Given the description of an element on the screen output the (x, y) to click on. 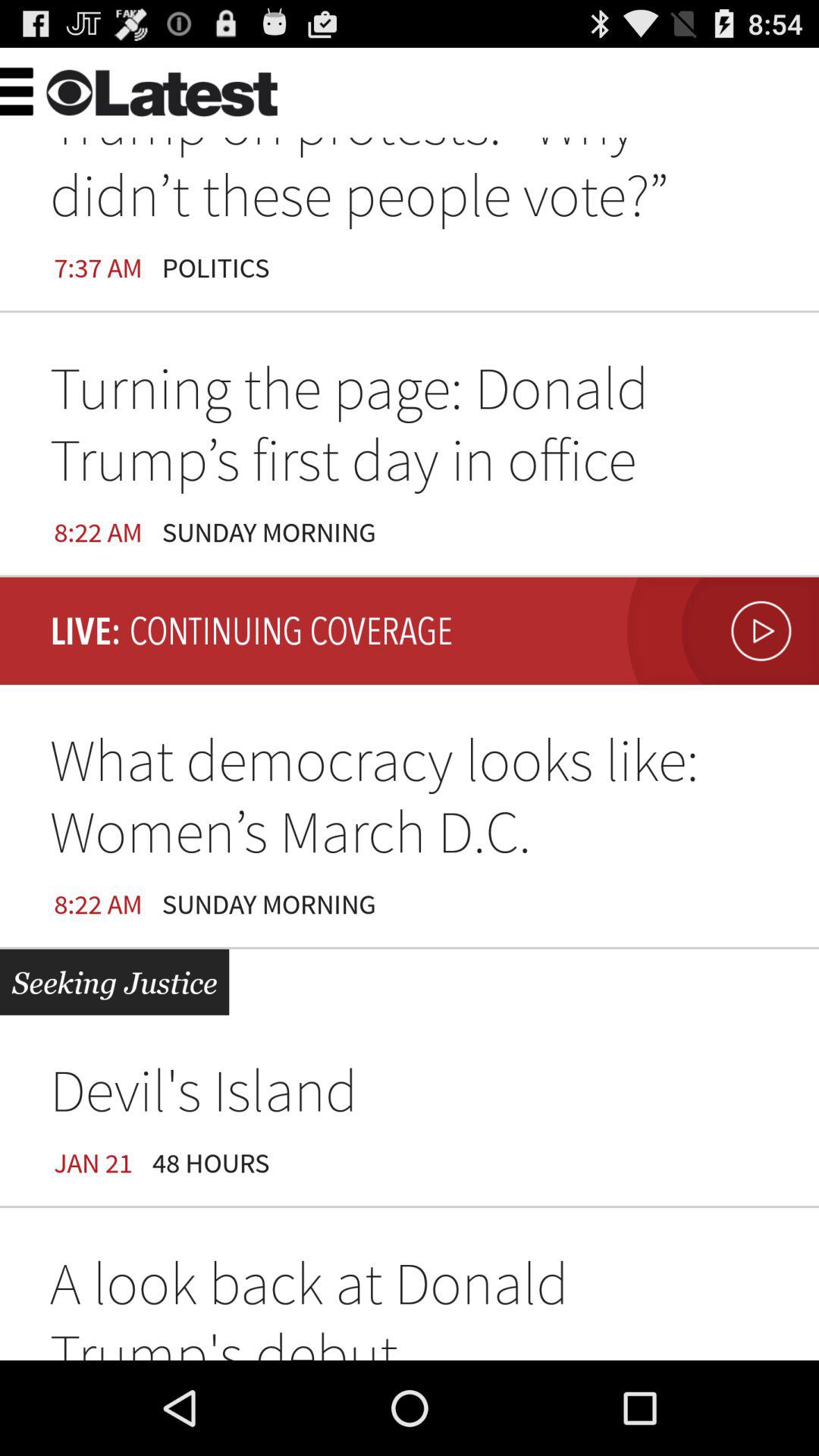
jump to a look back item (409, 1303)
